Given the description of an element on the screen output the (x, y) to click on. 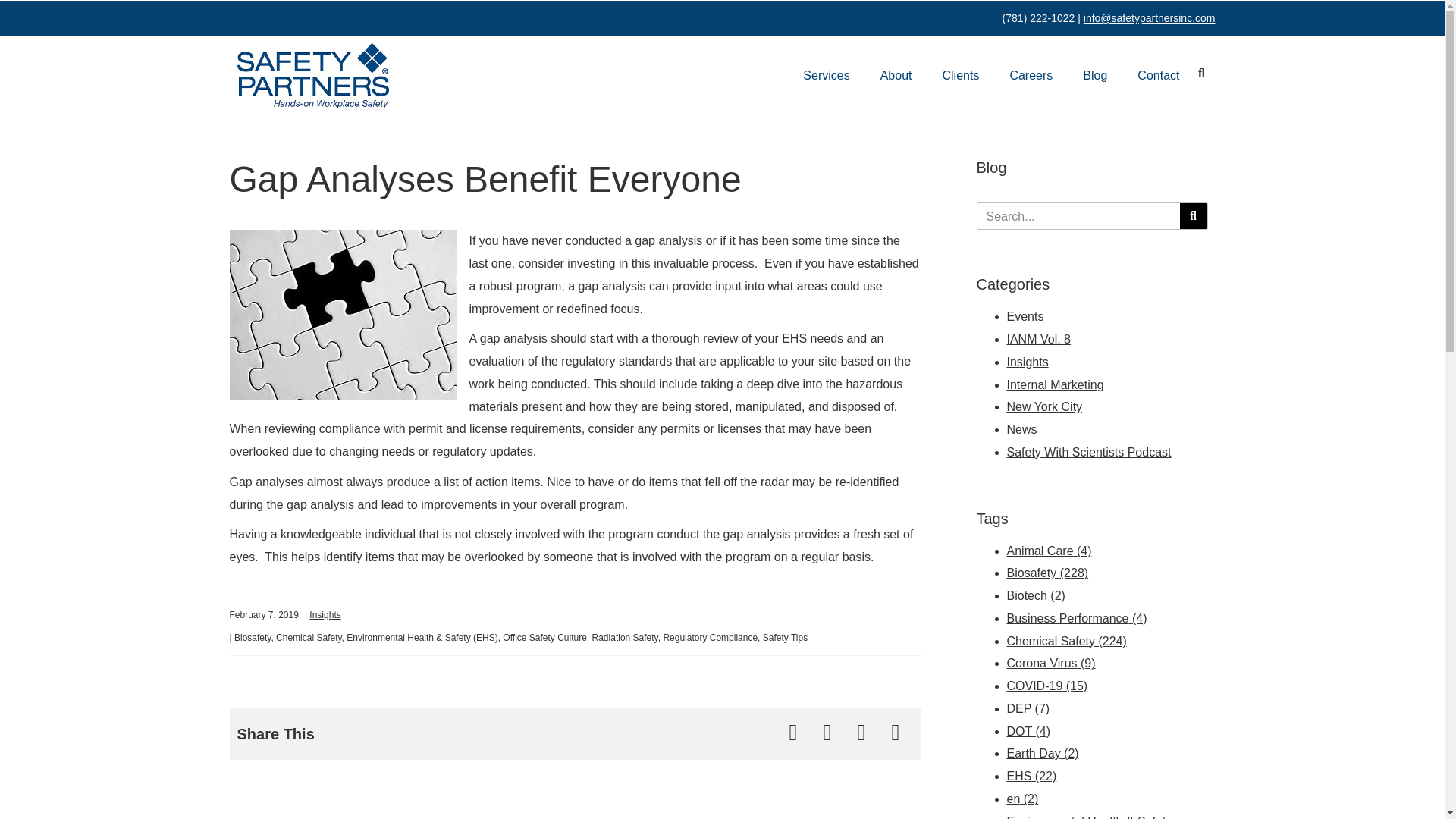
Careers (1031, 75)
Contact (1158, 75)
Clients (961, 75)
Insights (324, 614)
Regulatory Compliance (709, 637)
Office Safety Culture (544, 637)
Services (826, 75)
Radiation Safety (625, 637)
Biosafety (252, 637)
Chemical Safety (308, 637)
